Given the description of an element on the screen output the (x, y) to click on. 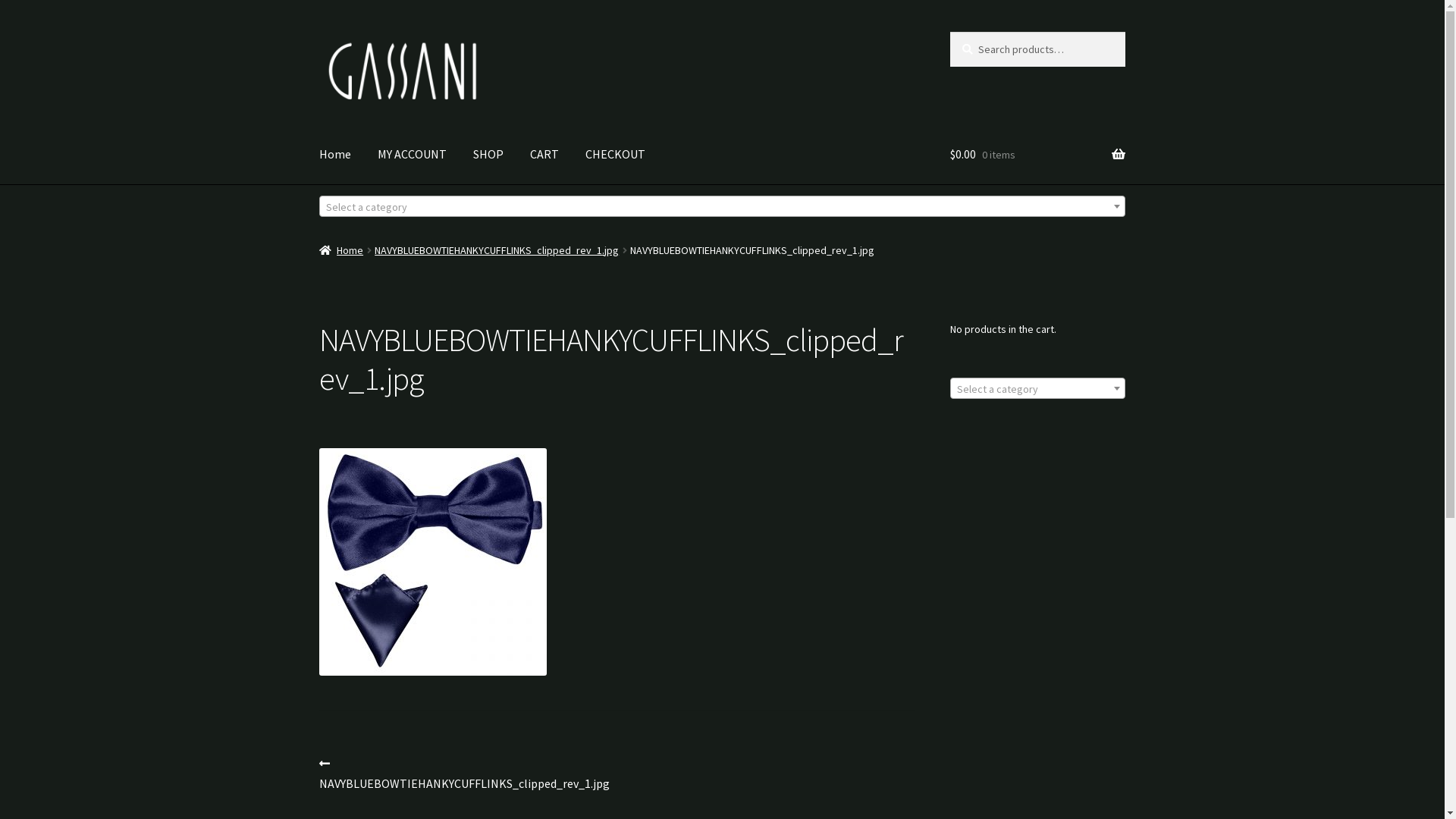
SHOP Element type: text (488, 154)
CHECKOUT Element type: text (615, 154)
$0.00 0 items Element type: text (1037, 154)
CART Element type: text (544, 154)
Search Element type: text (949, 31)
Home Element type: text (341, 250)
Home Element type: text (335, 154)
NAVYBLUEBOWTIEHANKYCUFFLINKS_clipped_rev_1.jpg Element type: text (496, 250)
MY ACCOUNT Element type: text (411, 154)
Skip to navigation Element type: text (318, 31)
